Given the description of an element on the screen output the (x, y) to click on. 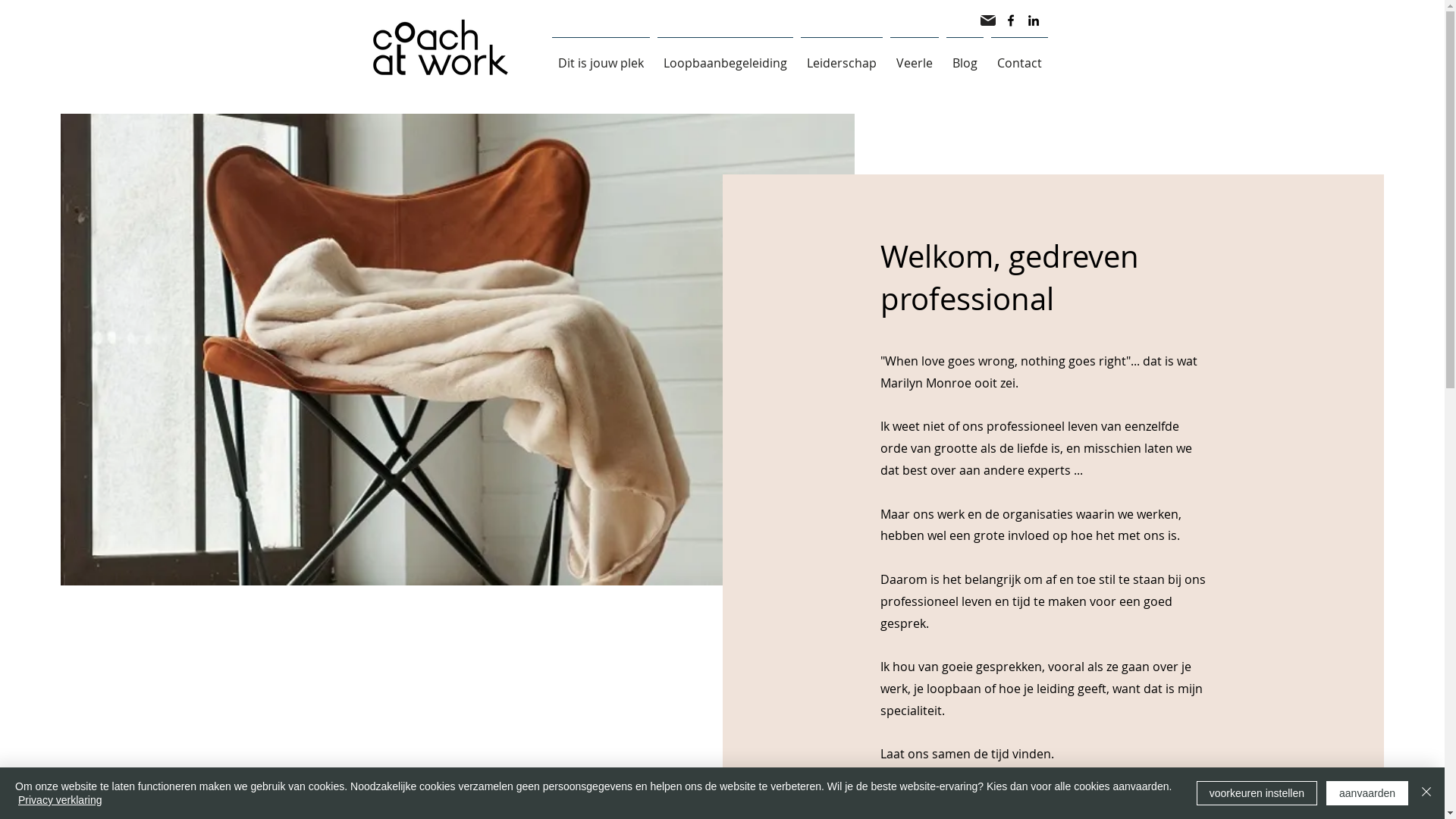
Dit is jouw plek Element type: text (599, 56)
Veerle Element type: text (913, 56)
Contact Element type: text (1019, 56)
Loopbaanbegeleiding Element type: text (725, 56)
Leiderschap Element type: text (840, 56)
Blog Element type: text (963, 56)
aanvaarden Element type: text (1367, 793)
voorkeuren instellen Element type: text (1256, 793)
Privacy verklaring Element type: text (59, 799)
